Given the description of an element on the screen output the (x, y) to click on. 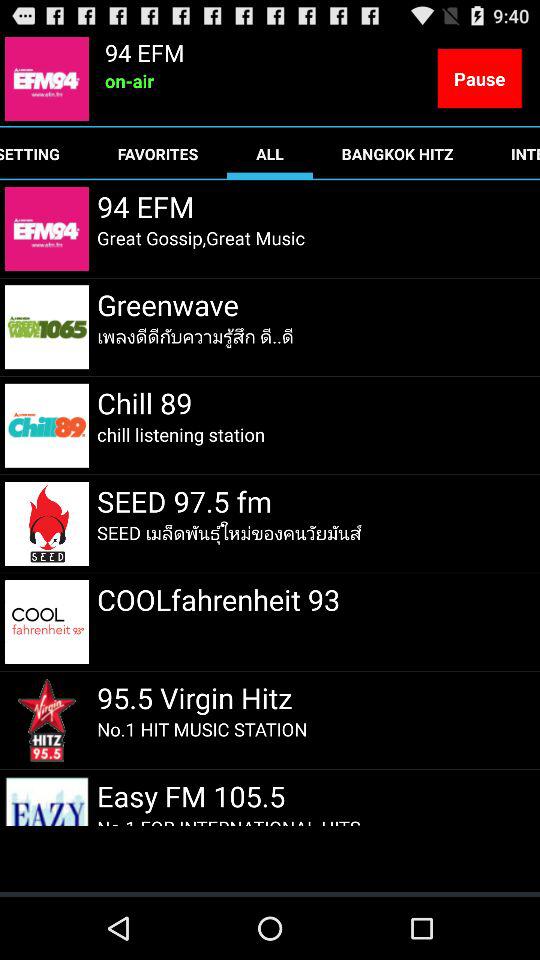
click item to the right of the favorites item (269, 153)
